Given the description of an element on the screen output the (x, y) to click on. 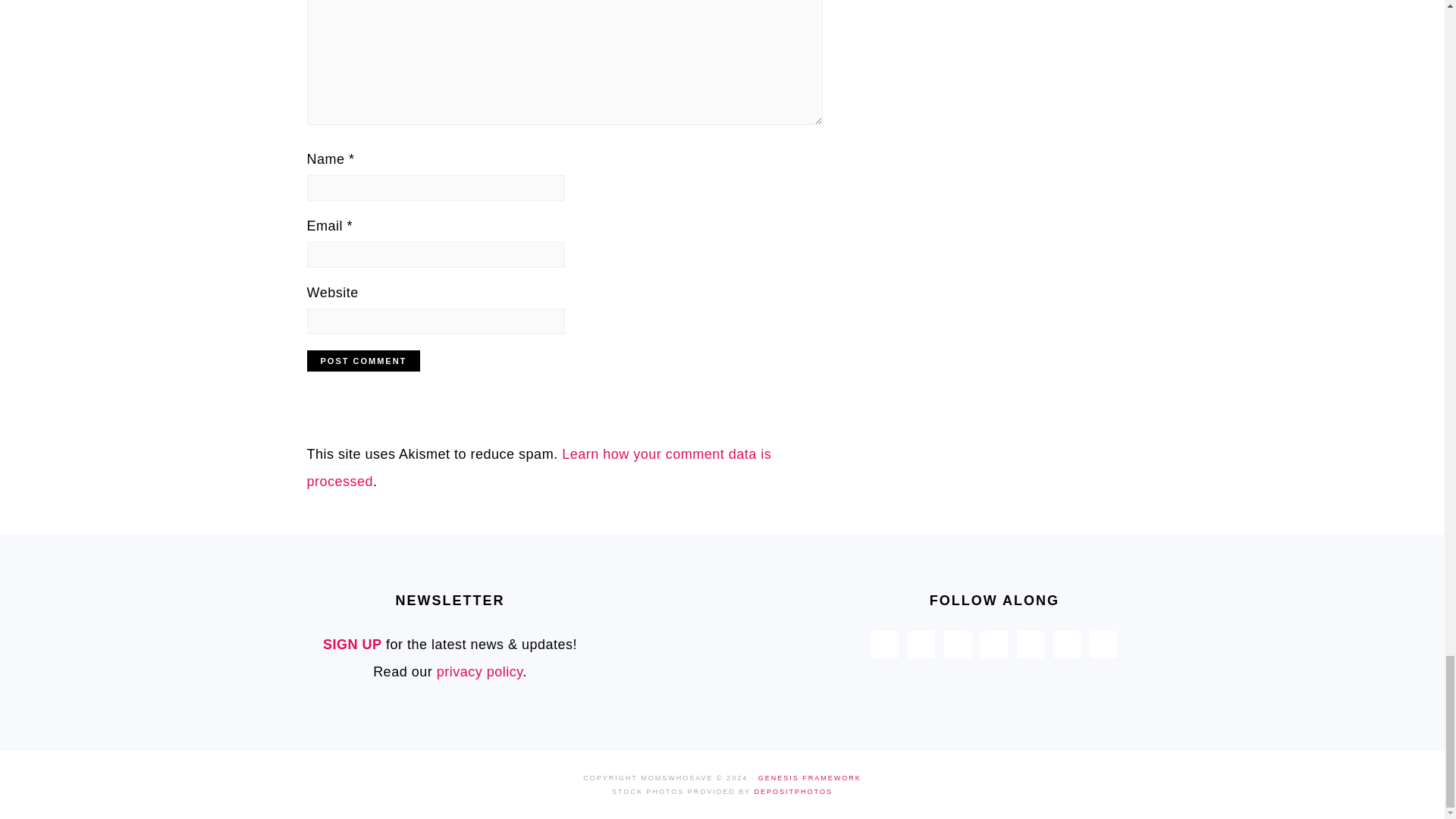
Post Comment (362, 360)
